Given the description of an element on the screen output the (x, y) to click on. 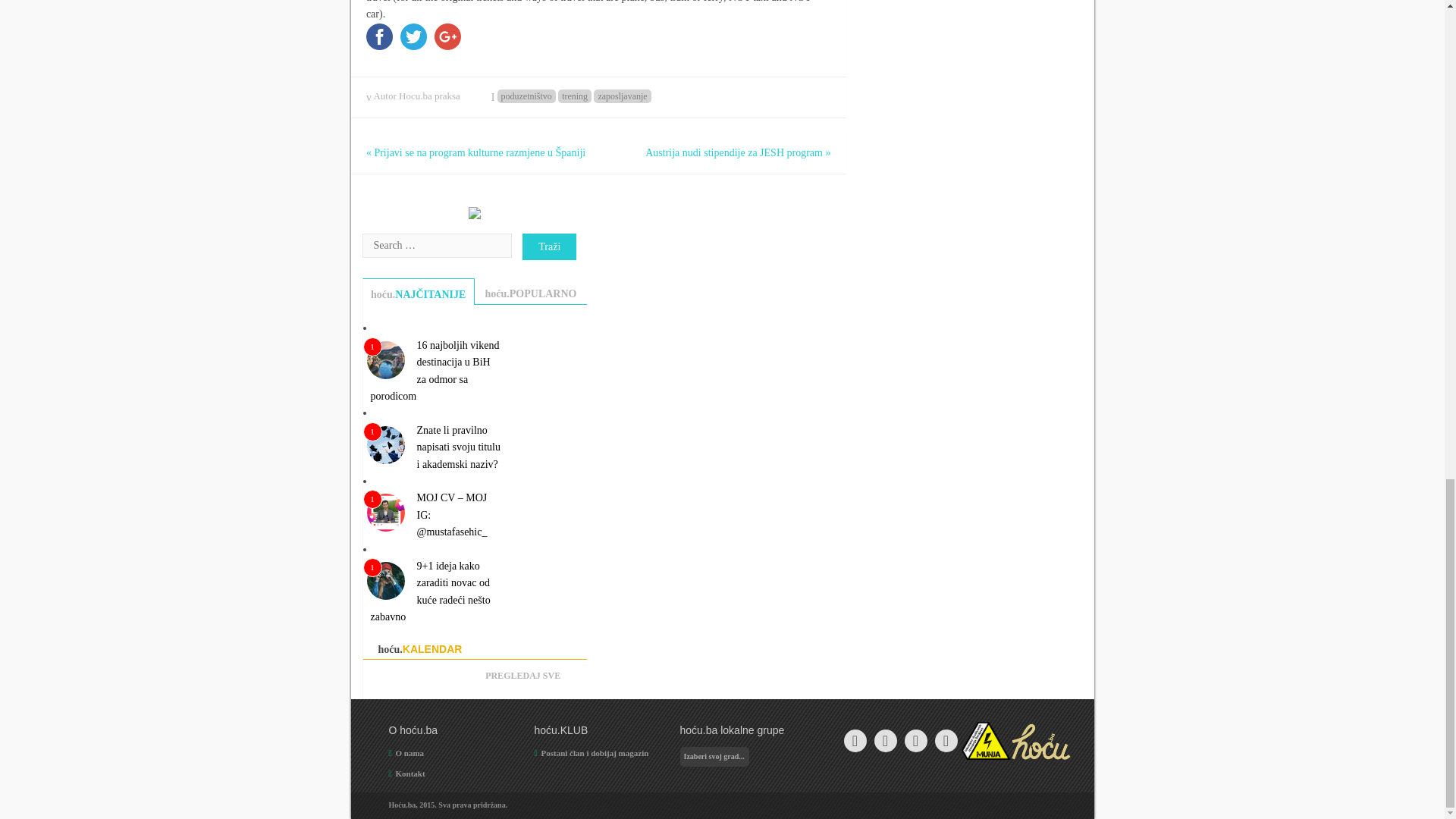
facebook (379, 39)
trening (574, 96)
twitter (413, 39)
zaposljavanje (622, 96)
google (447, 39)
Znate li pravilno napisati svoju titulu i akademski naziv? (458, 447)
16 najboljih vikend destinacija u BiH za odmor sa porodicom (434, 370)
